Given the description of an element on the screen output the (x, y) to click on. 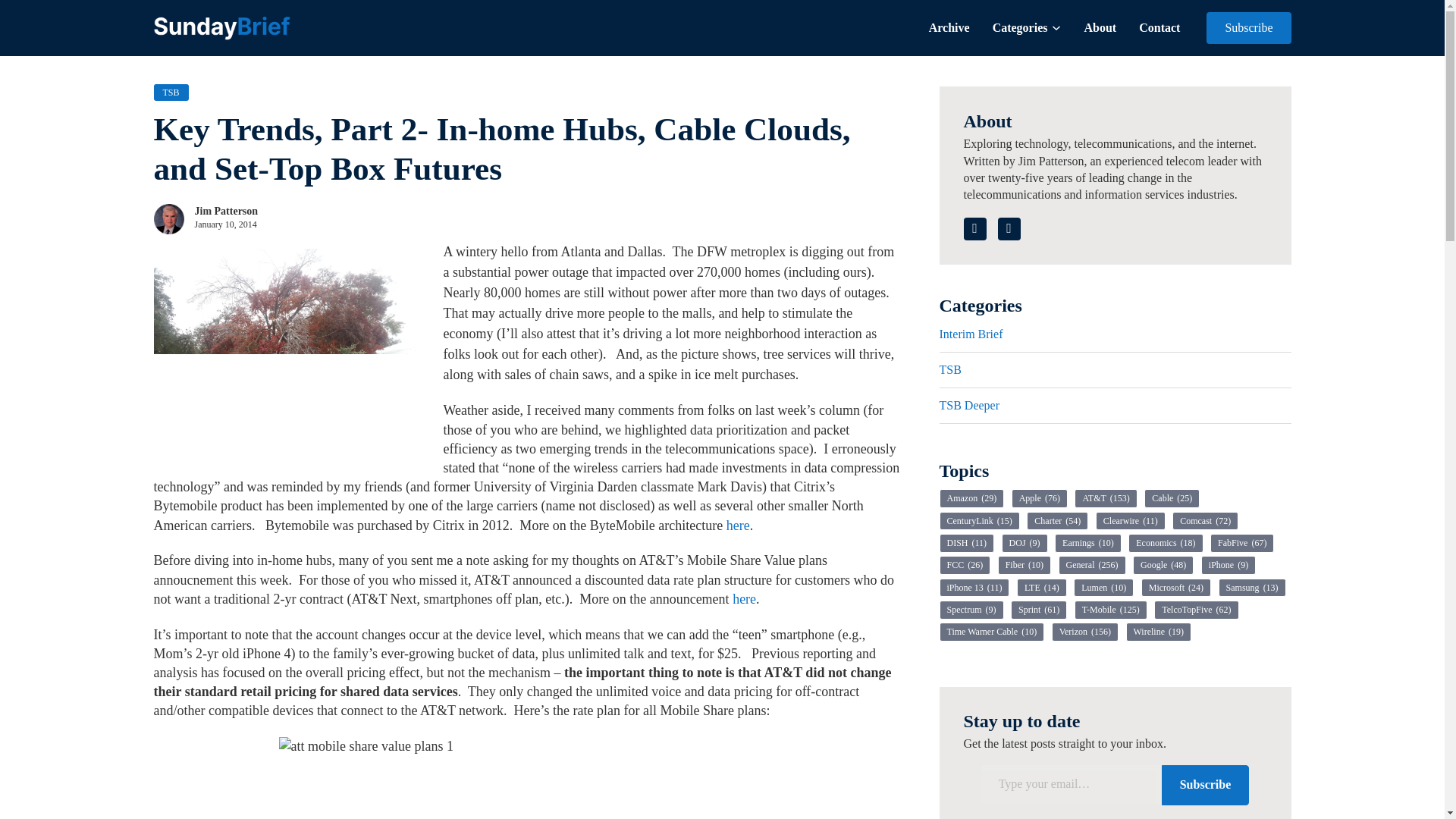
Contact (1158, 27)
Categories (1020, 27)
Please fill in this field. (1071, 783)
About (1099, 27)
Subscribe (1248, 28)
Archive (948, 27)
